Given the description of an element on the screen output the (x, y) to click on. 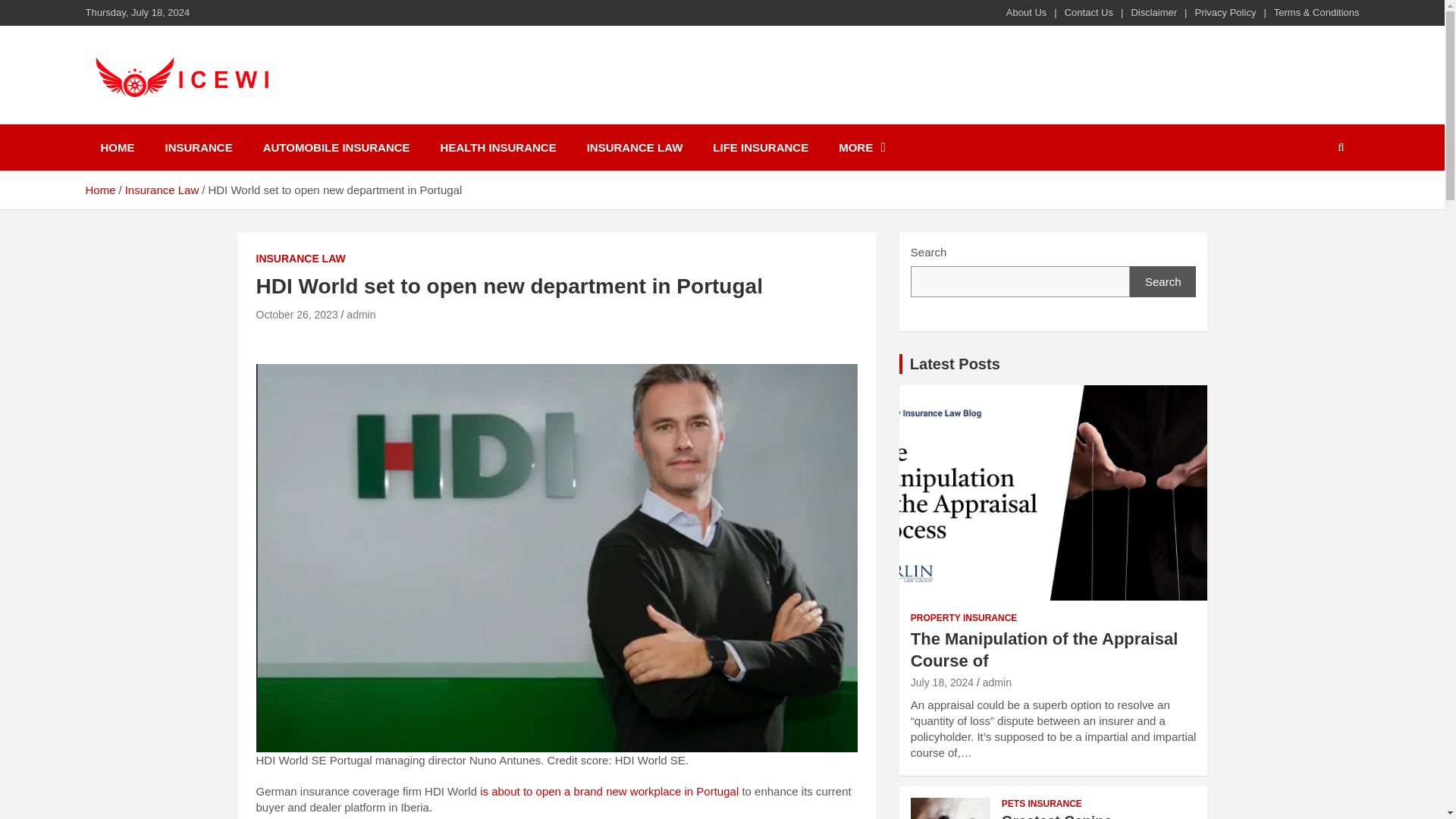
Search (1162, 281)
MORE (862, 147)
Latest Posts (955, 363)
LIFE INSURANCE (760, 147)
HOME (116, 147)
is about to open a brand new workplace in Portugal (609, 790)
AUTOMOBILE INSURANCE (336, 147)
HEALTH INSURANCE (498, 147)
HDI World set to open new department in Portugal (296, 314)
Home (99, 189)
INSURANCE (198, 147)
INSURANCE LAW (301, 258)
About Us (1026, 12)
Insurance Law (162, 189)
INSURANCE LAW (635, 147)
